Given the description of an element on the screen output the (x, y) to click on. 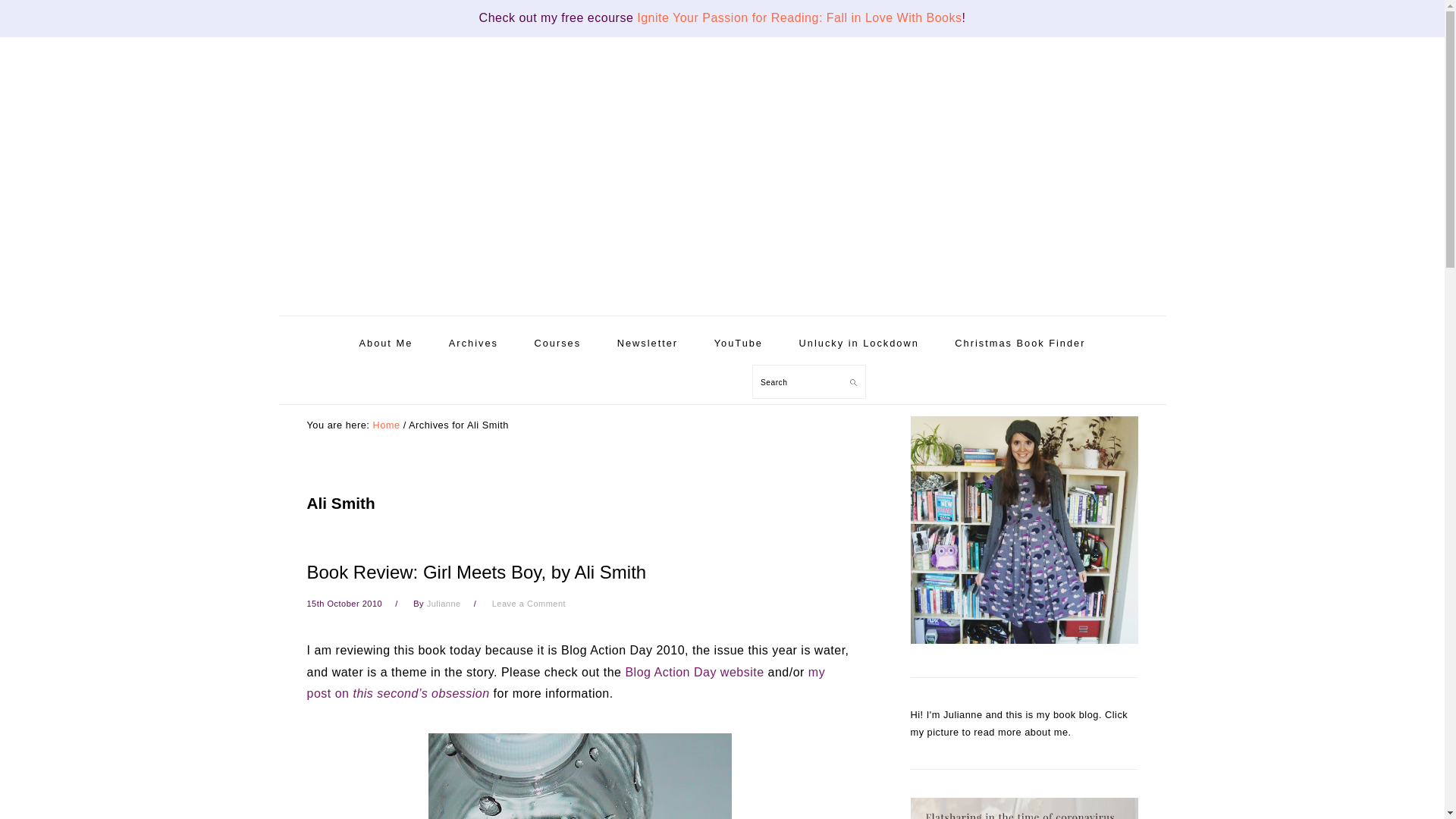
Courses (557, 342)
Home (385, 424)
Leave a Comment (529, 603)
YouTube (738, 342)
Unlucky in Lockdown (858, 342)
Book Review: Girl Meets Boy, by Ali Smith (475, 571)
Archives (472, 342)
